Given the description of an element on the screen output the (x, y) to click on. 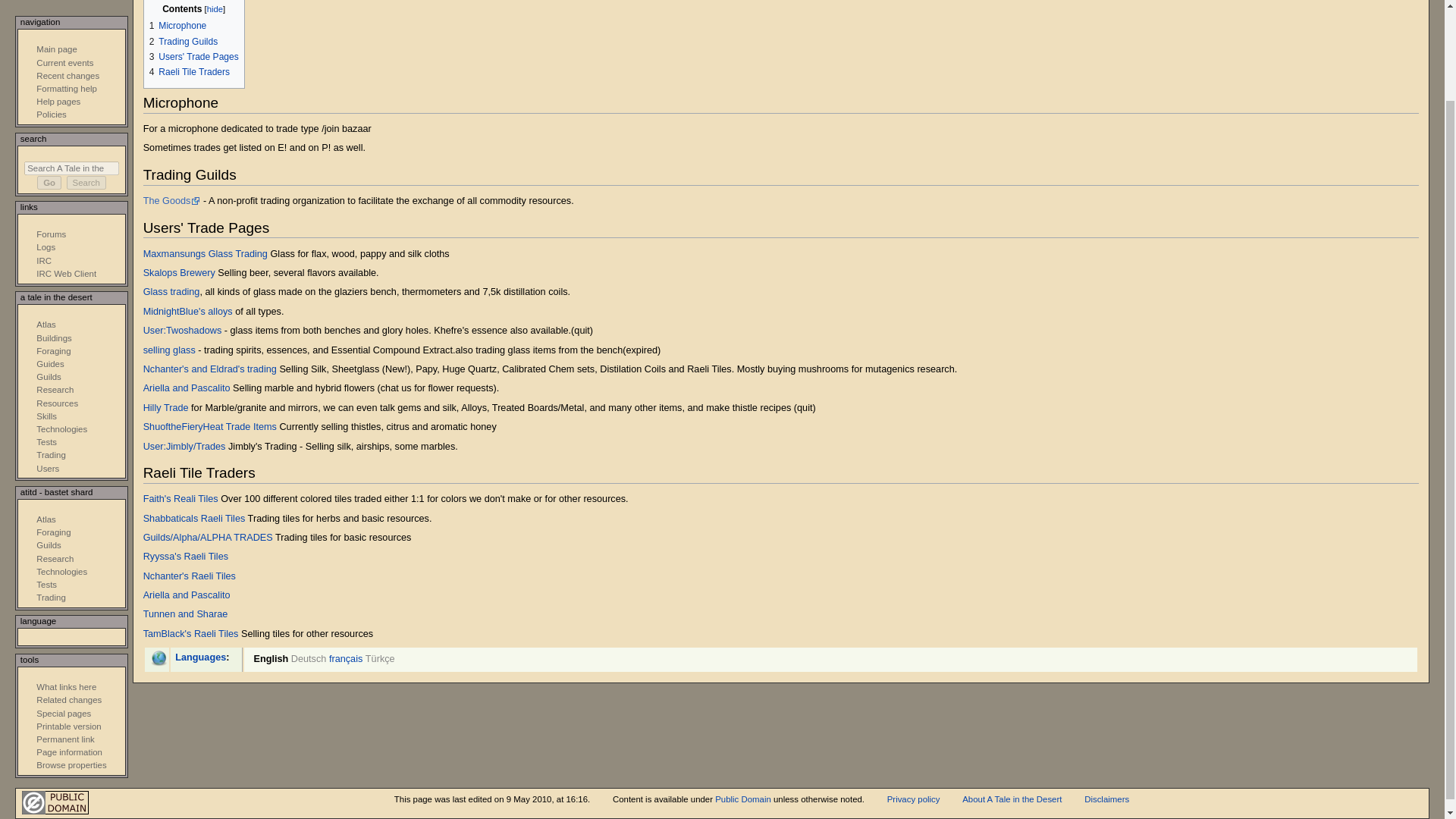
Glass trading (171, 291)
Maxmansungs Glass Trading (204, 253)
User:Pascalito (186, 388)
Search (86, 182)
Tunnen and Sharae (185, 614)
User:McArine (171, 291)
Shabbaticals Raeli Tiles (194, 518)
Ryyssa's Raeli Tiles (185, 556)
MidnightBlue's alloys (187, 311)
User:Ryyssa (185, 556)
